Given the description of an element on the screen output the (x, y) to click on. 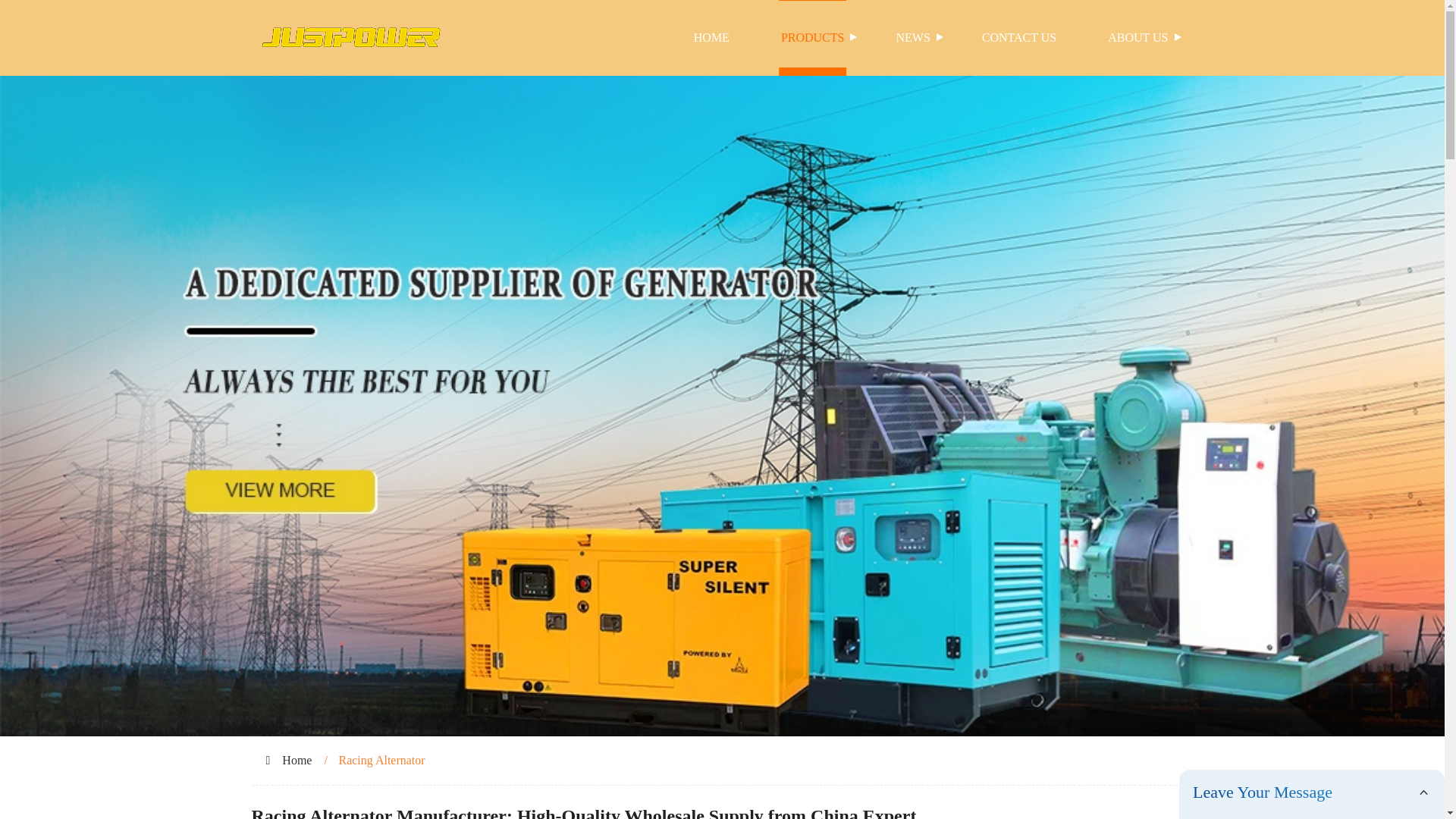
Home (296, 759)
PRODUCTS (812, 38)
CONTACT US (1018, 38)
